Given the description of an element on the screen output the (x, y) to click on. 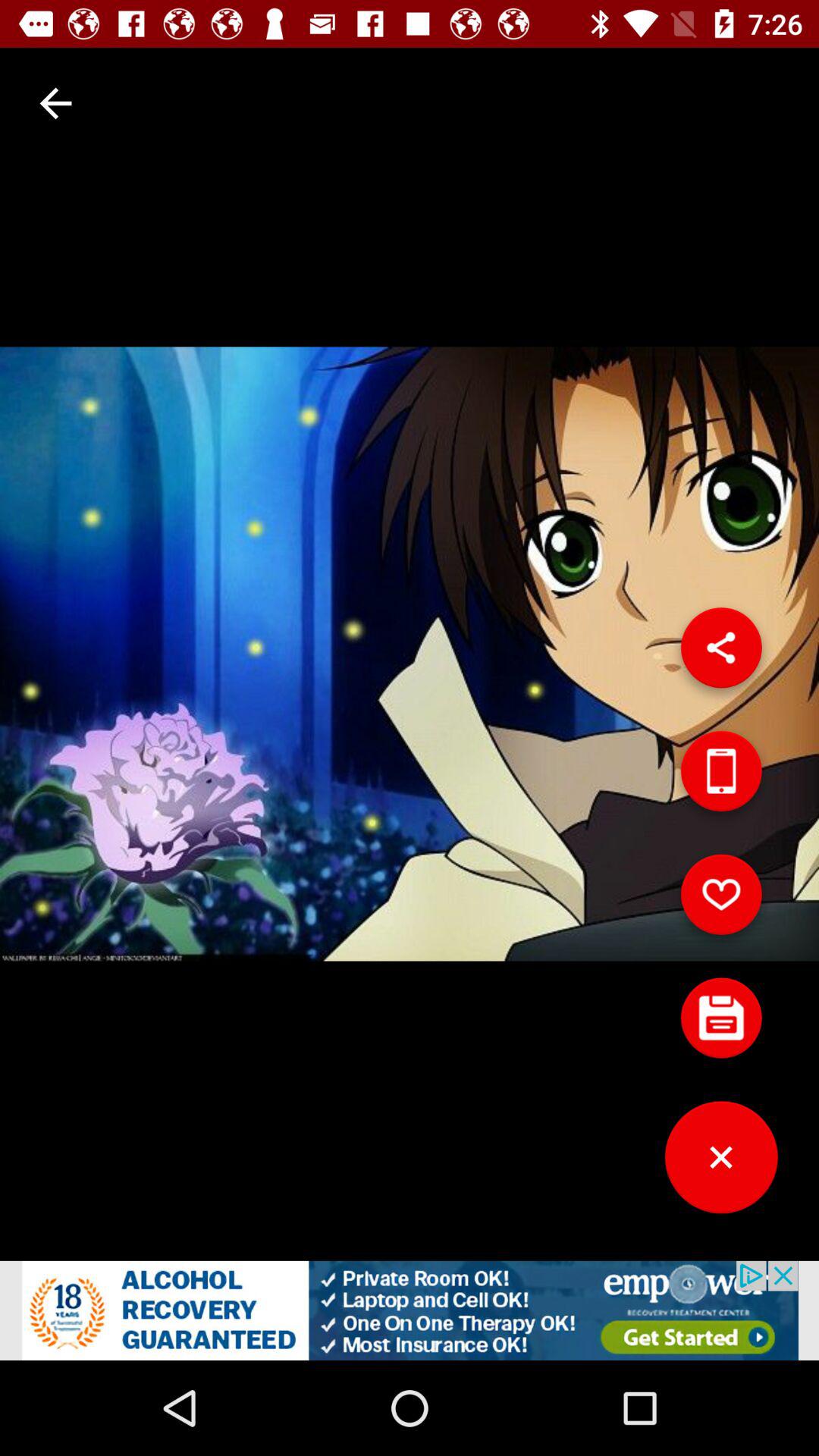
close page (721, 1163)
